Given the description of an element on the screen output the (x, y) to click on. 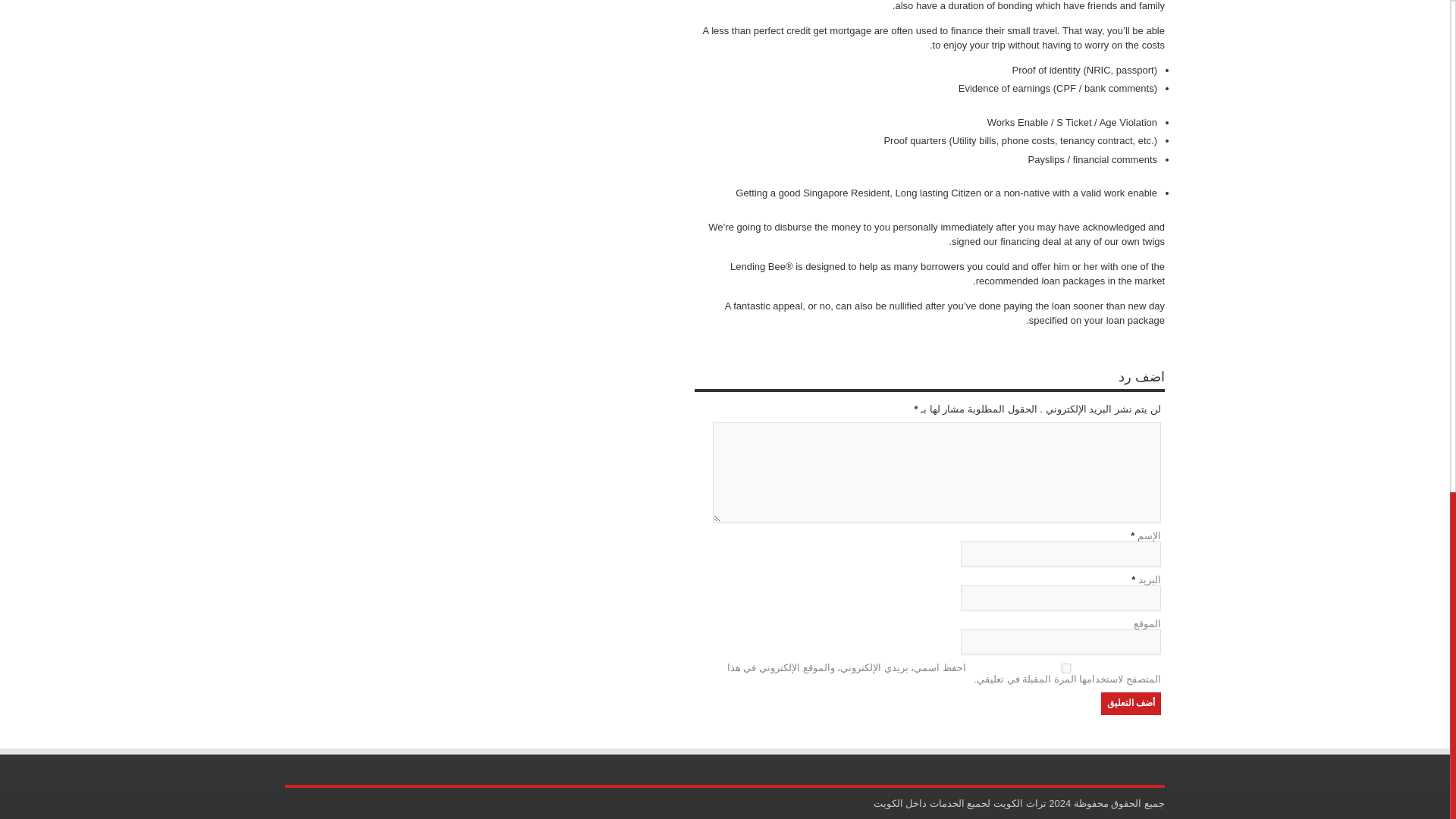
yes (1065, 668)
